Given the description of an element on the screen output the (x, y) to click on. 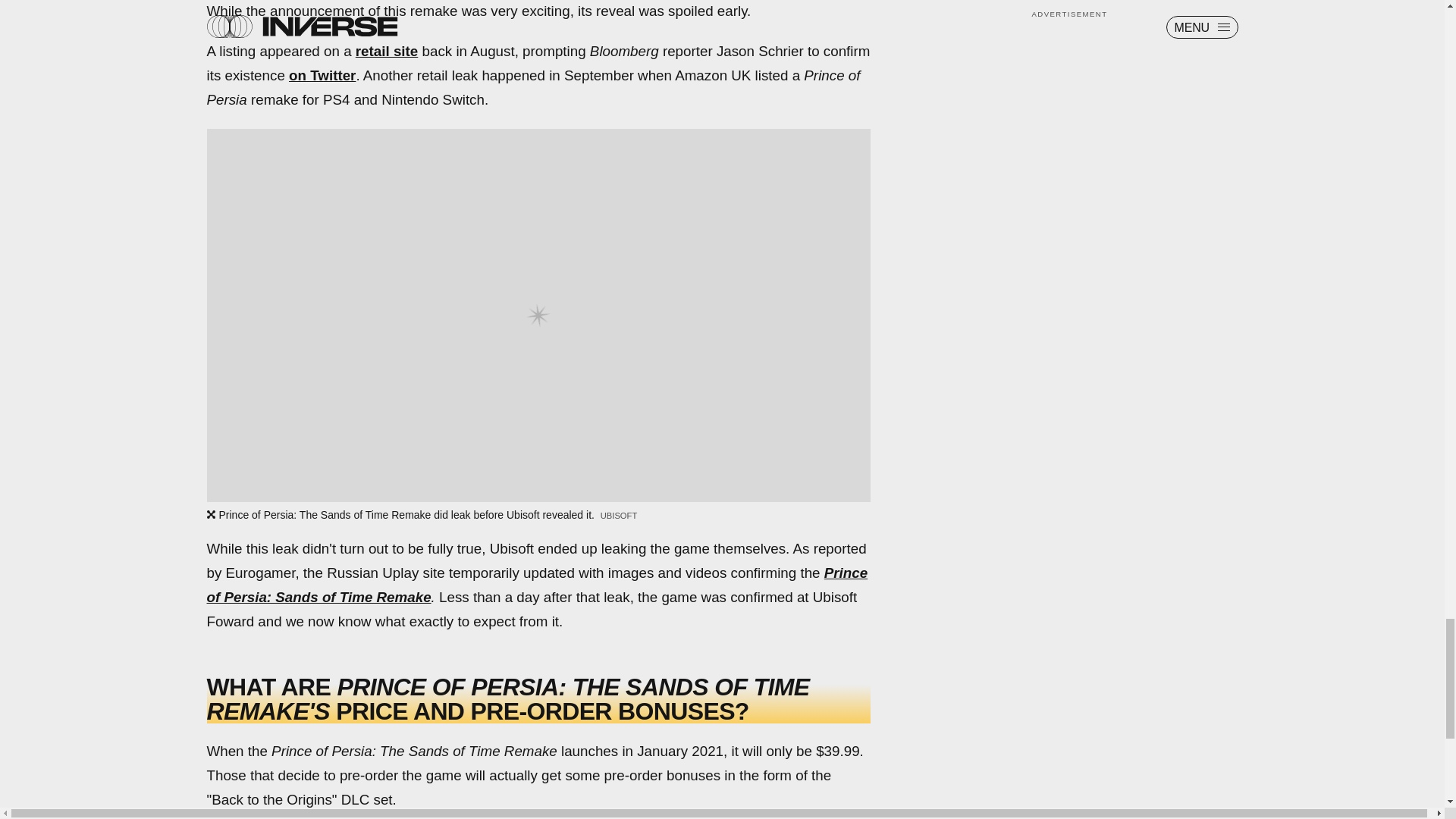
retail site (386, 50)
Prince of Persia: Sands of Time Remake (536, 585)
on Twitter (321, 75)
